Given the description of an element on the screen output the (x, y) to click on. 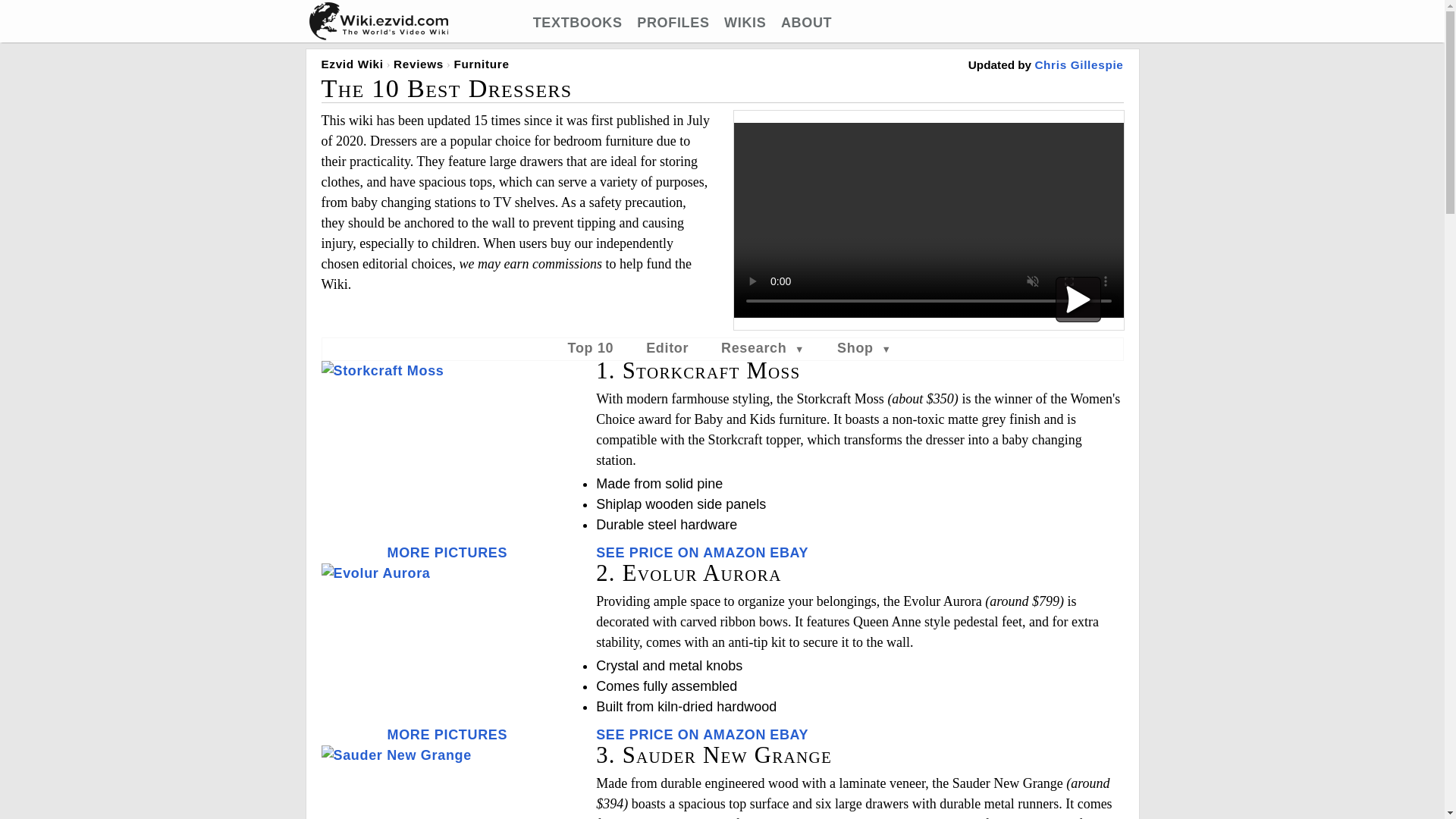
ABOUT (805, 22)
PROFILES (673, 22)
MORE PICTURES (446, 552)
Chris Gillespie (1077, 64)
Editor (667, 347)
EBAY (789, 552)
MORE PICTURES (446, 734)
Furniture (480, 63)
Ezvid Wiki (352, 63)
Reviews (418, 63)
SEE PRICE ON AMAZON (680, 734)
TEXTBOOKS (577, 22)
SEE PRICE ON AMAZON (680, 552)
WIKIS (744, 22)
Top 10 (590, 347)
